Given the description of an element on the screen output the (x, y) to click on. 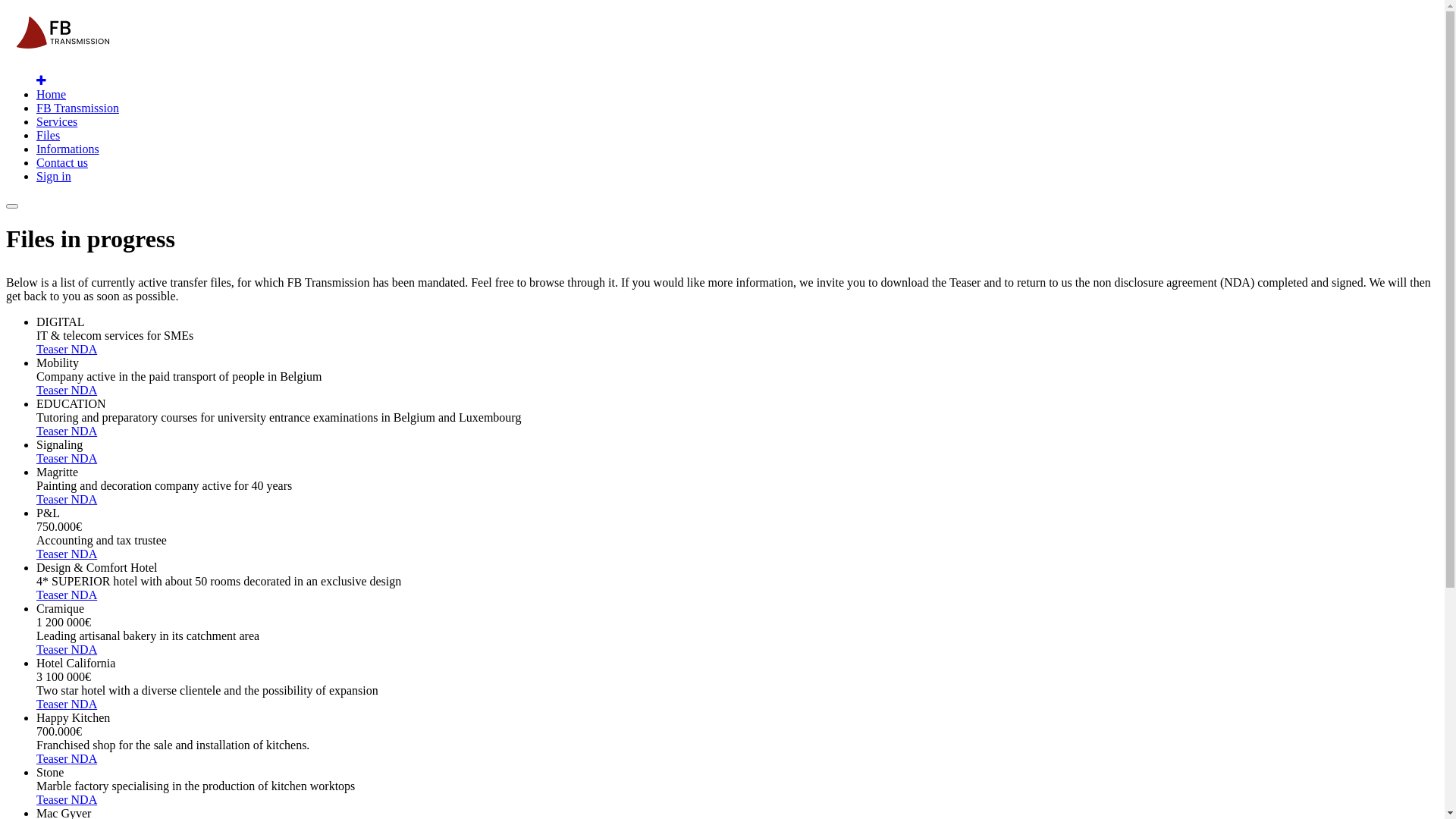
Teaser Element type: text (53, 348)
NDA Element type: text (84, 389)
NDA Element type: text (84, 553)
Teaser Element type: text (53, 430)
Contact us Element type: text (61, 162)
NDA Element type: text (84, 758)
Sign in Element type: text (53, 175)
NDA Element type: text (84, 799)
Teaser Element type: text (53, 553)
Teaser Element type: text (53, 703)
Teaser Element type: text (53, 758)
Teaser Element type: text (53, 799)
Teaser Element type: text (53, 498)
NDA Element type: text (84, 457)
Teaser Element type: text (53, 457)
NDA Element type: text (84, 430)
NDA Element type: text (84, 498)
Services Element type: text (56, 121)
Home Element type: text (50, 93)
NDA Element type: text (84, 703)
Teaser Element type: text (53, 594)
FB Transmission Element type: text (77, 107)
NDA Element type: text (84, 649)
Informations Element type: text (67, 148)
Teaser Element type: text (53, 649)
NDA Element type: text (84, 348)
NDA Element type: text (84, 594)
Files Element type: text (47, 134)
Teaser Element type: text (53, 389)
